Given the description of an element on the screen output the (x, y) to click on. 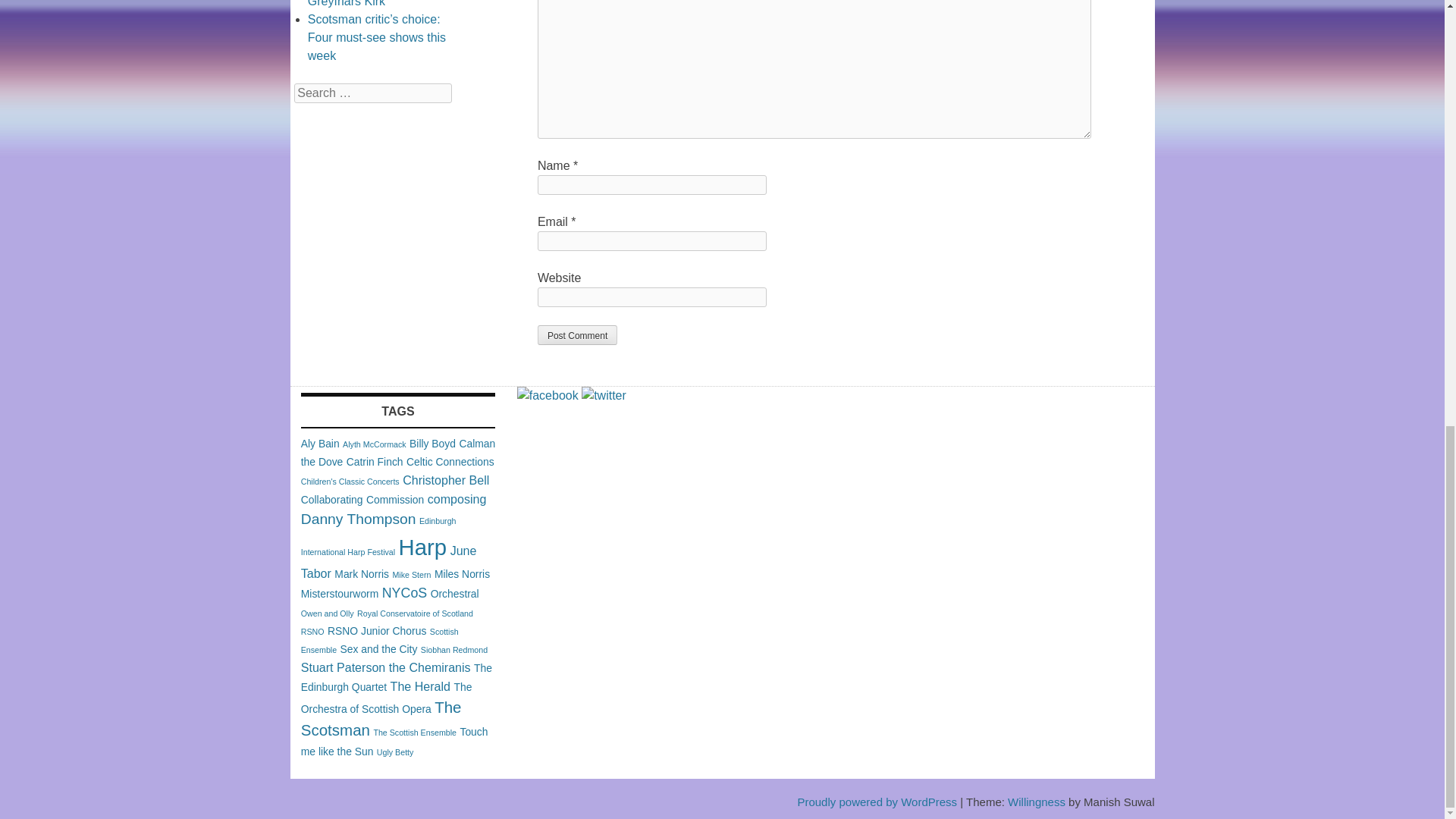
A Semantic Personal Publishing Platform (876, 801)
Post Comment (577, 334)
Post Comment (577, 334)
